Given the description of an element on the screen output the (x, y) to click on. 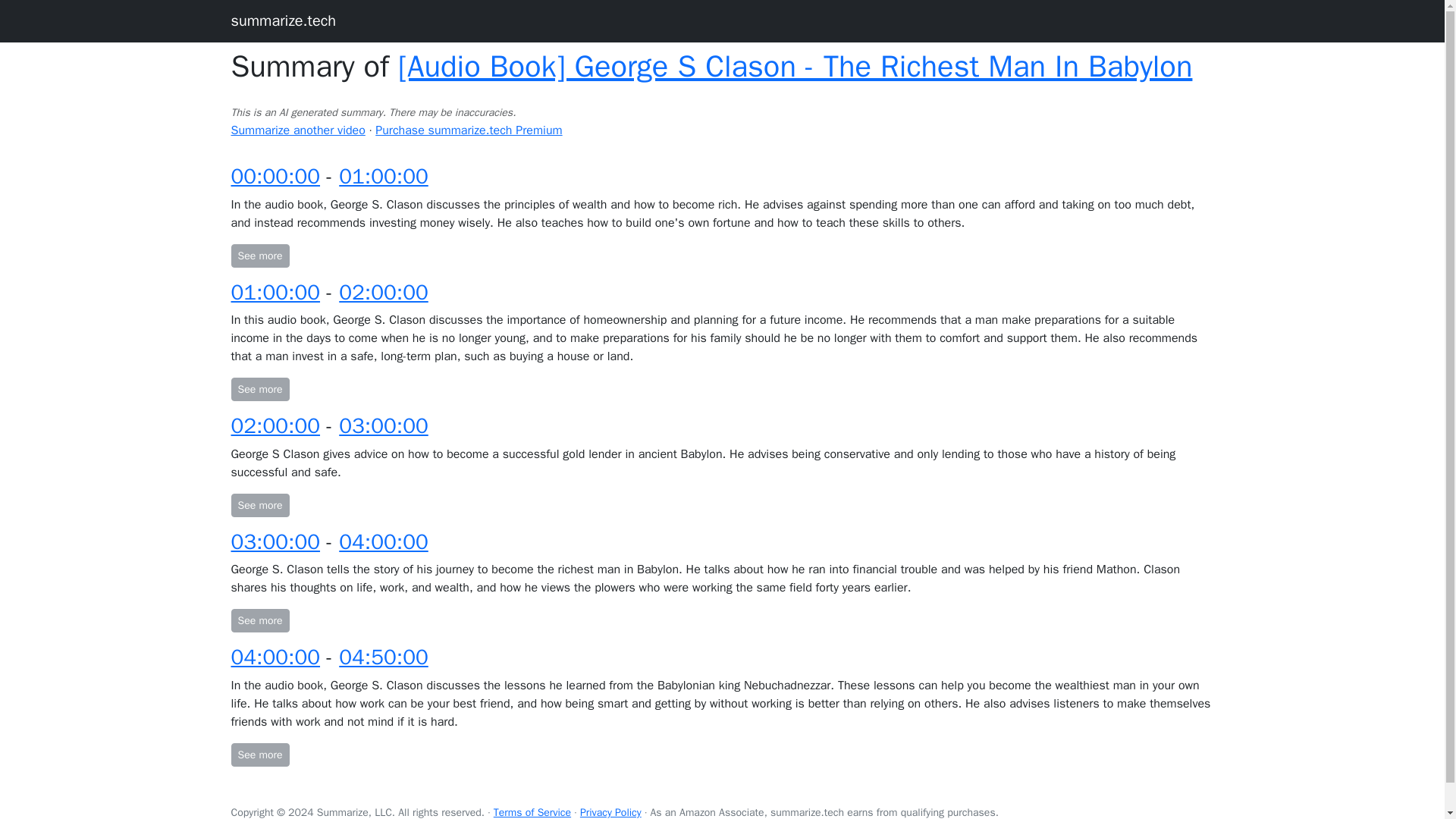
summarize.tech (283, 20)
02:00:00 (275, 425)
See more (259, 504)
03:00:00 (383, 425)
01:00:00 (383, 175)
00:00:00 (275, 175)
Summarize another video (297, 130)
See more (259, 255)
See more (259, 389)
Purchase summarize.tech Premium (468, 130)
